Given the description of an element on the screen output the (x, y) to click on. 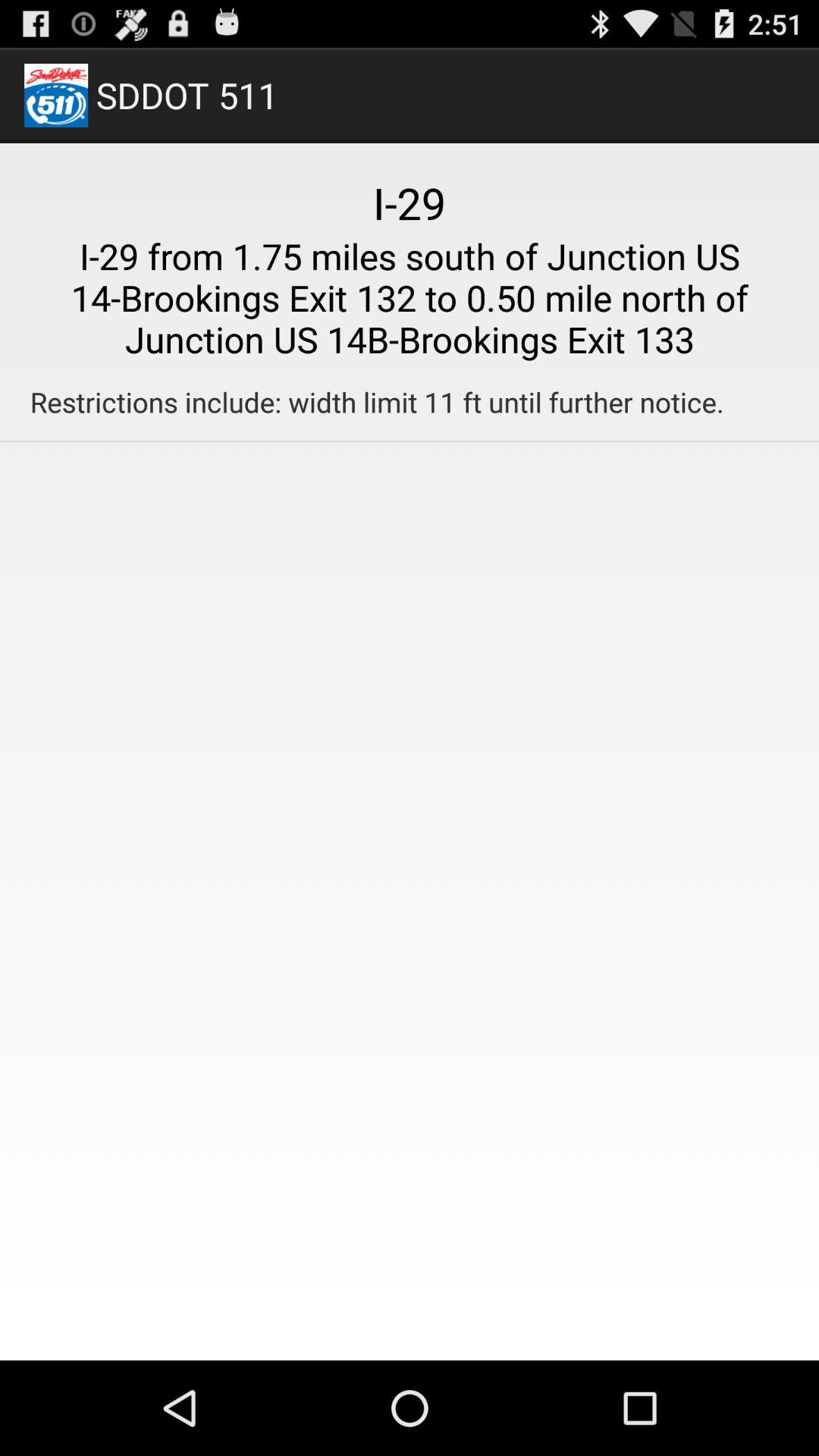
swipe to the restrictions include width (377, 401)
